Given the description of an element on the screen output the (x, y) to click on. 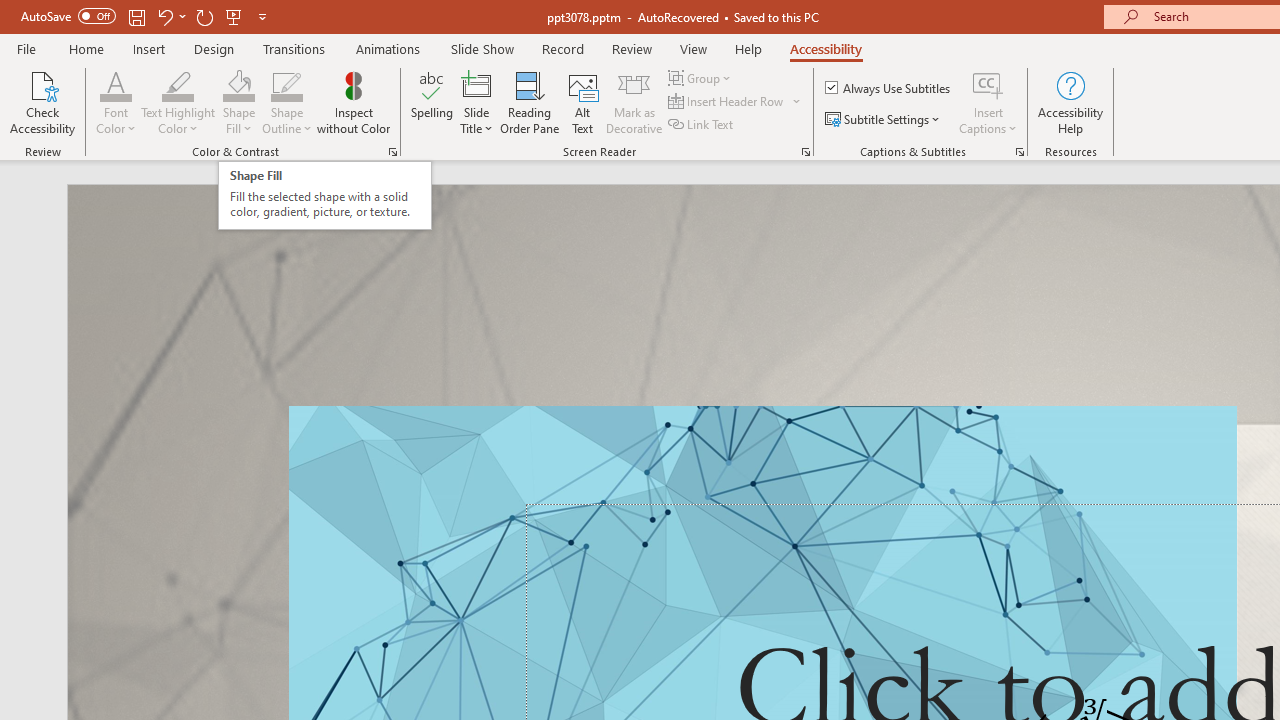
Shape Outline (286, 102)
Slide Title (476, 84)
Alt Text (582, 102)
Shape Fill (238, 84)
Link Text (702, 124)
Font Color (116, 84)
Spelling... (432, 102)
Subtitle Settings (884, 119)
Text Highlight Color (178, 102)
